Given the description of an element on the screen output the (x, y) to click on. 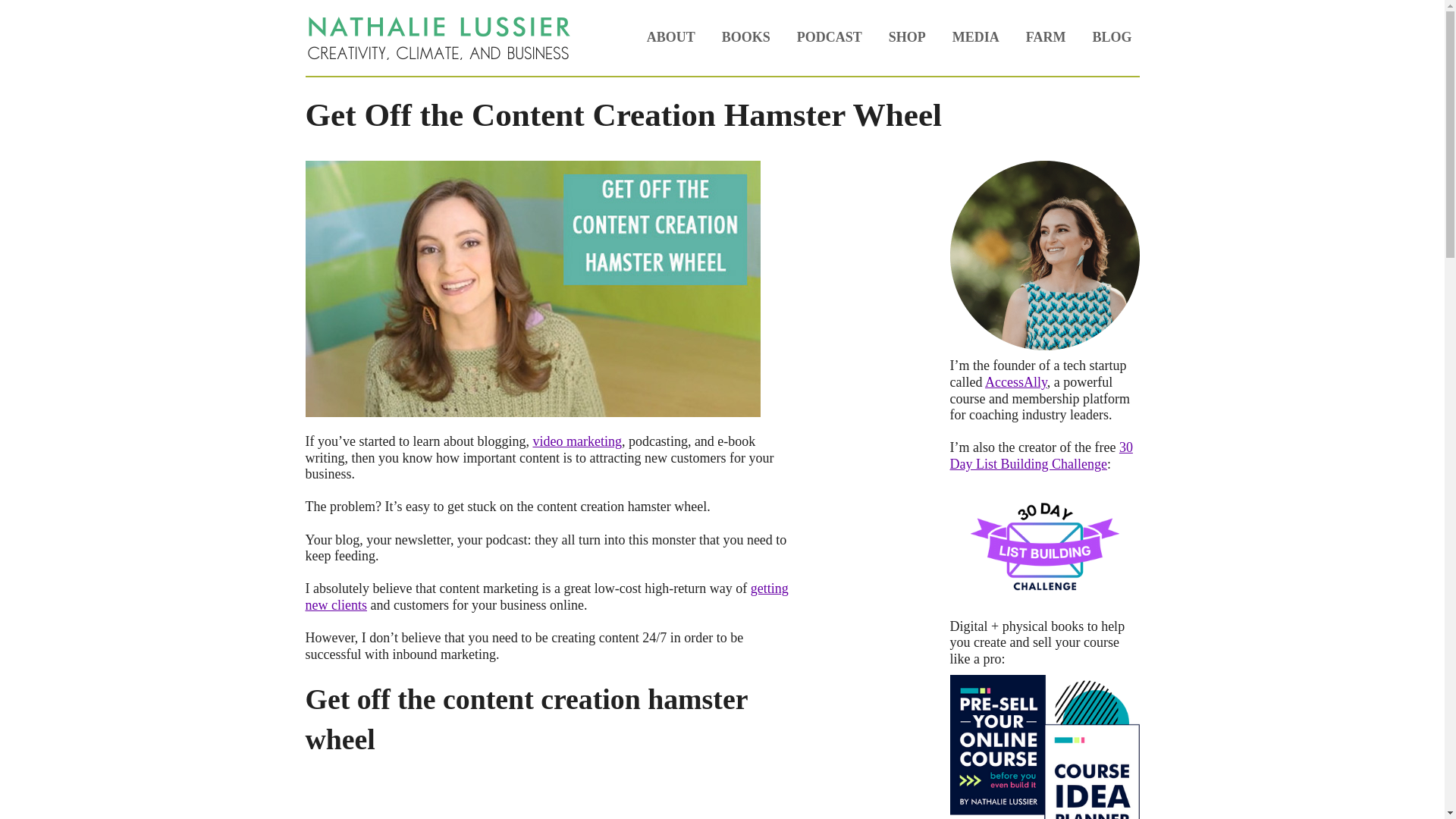
30 Day List Building Challenge (1040, 455)
SHOP (906, 38)
video marketing (576, 441)
AccessAlly (1015, 381)
ABOUT (671, 38)
getting new clients (545, 596)
BOOKS (745, 38)
PODCAST (829, 38)
BLOG (1111, 38)
FARM (1045, 38)
MEDIA (975, 38)
